Given the description of an element on the screen output the (x, y) to click on. 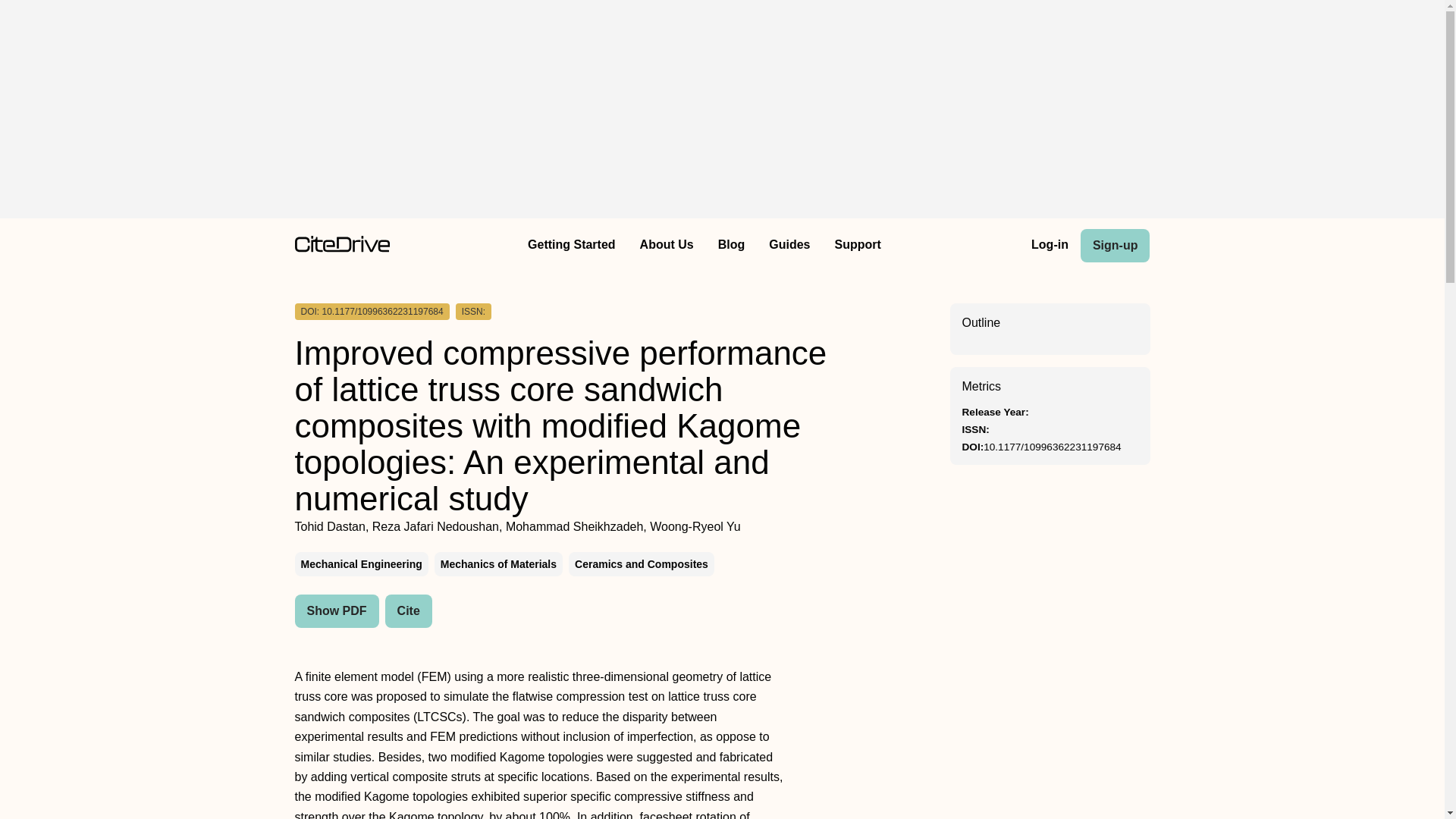
Blog (731, 245)
Sign-up (1115, 245)
Log-in (1049, 245)
Support (857, 245)
Getting Started (571, 245)
Show PDF (336, 611)
Guides (789, 245)
About Us (666, 245)
Cite (408, 611)
